Given the description of an element on the screen output the (x, y) to click on. 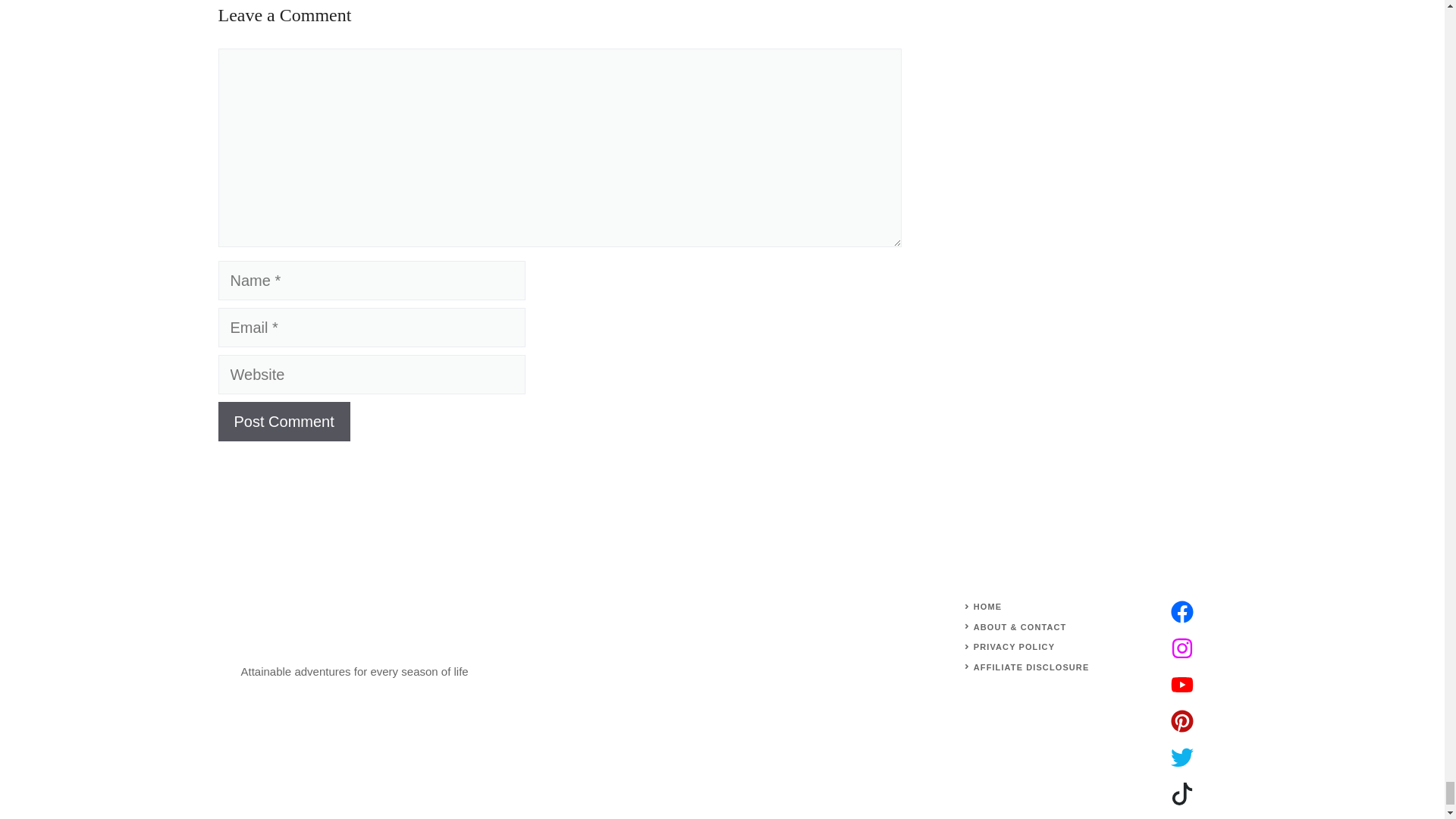
Post Comment (284, 421)
